Given the description of an element on the screen output the (x, y) to click on. 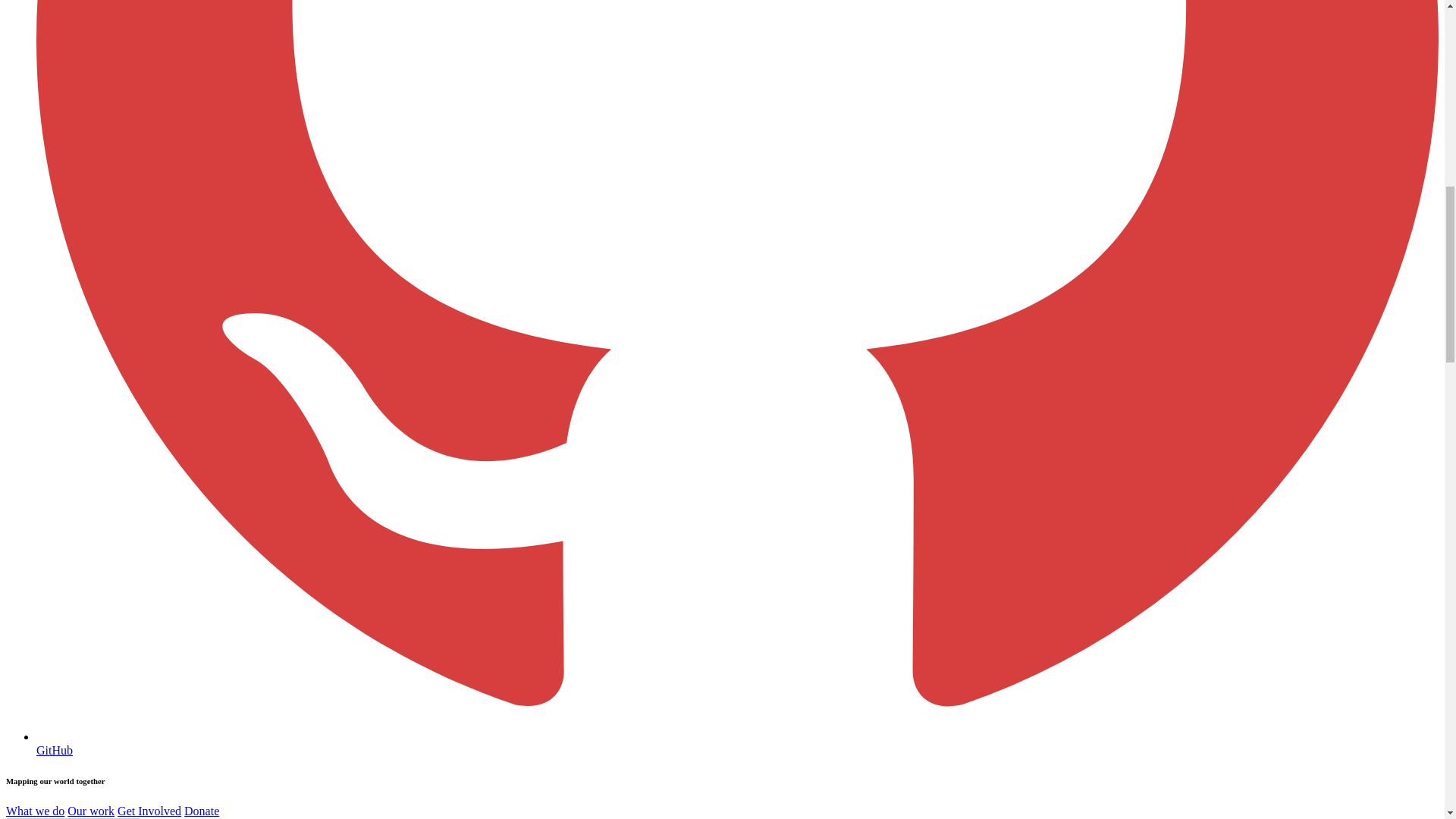
Donate (201, 810)
Our work (90, 810)
Get Involved (148, 810)
What we do (34, 810)
